Given the description of an element on the screen output the (x, y) to click on. 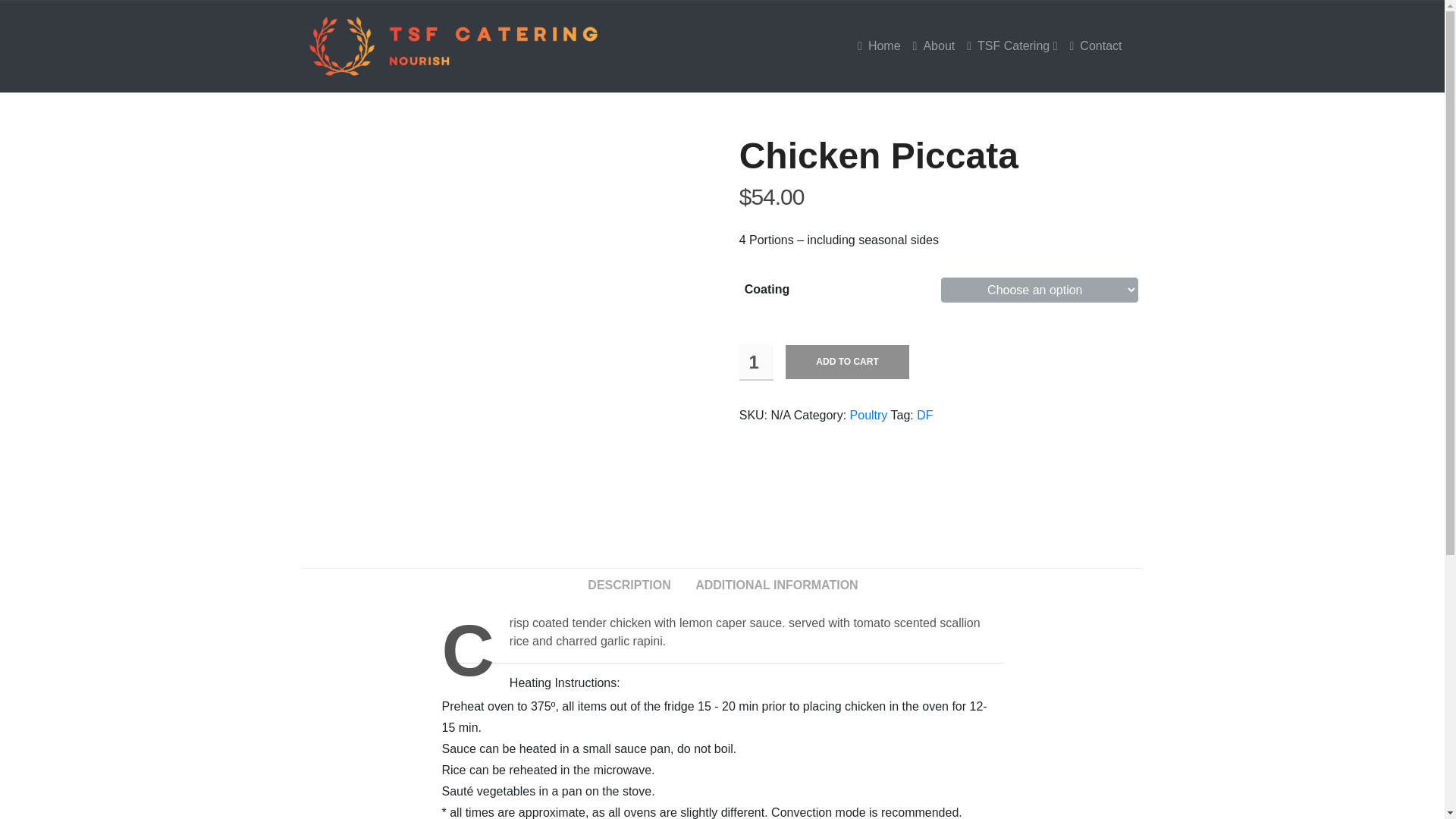
1 (756, 362)
Poultry (869, 414)
TSF Catering (1011, 45)
Qty (756, 362)
DF (925, 414)
NOURISH by TSF (453, 45)
ADD TO CART (847, 361)
TSF Catering (1011, 45)
ADDITIONAL INFORMATION (777, 584)
DESCRIPTION (628, 584)
